Given the description of an element on the screen output the (x, y) to click on. 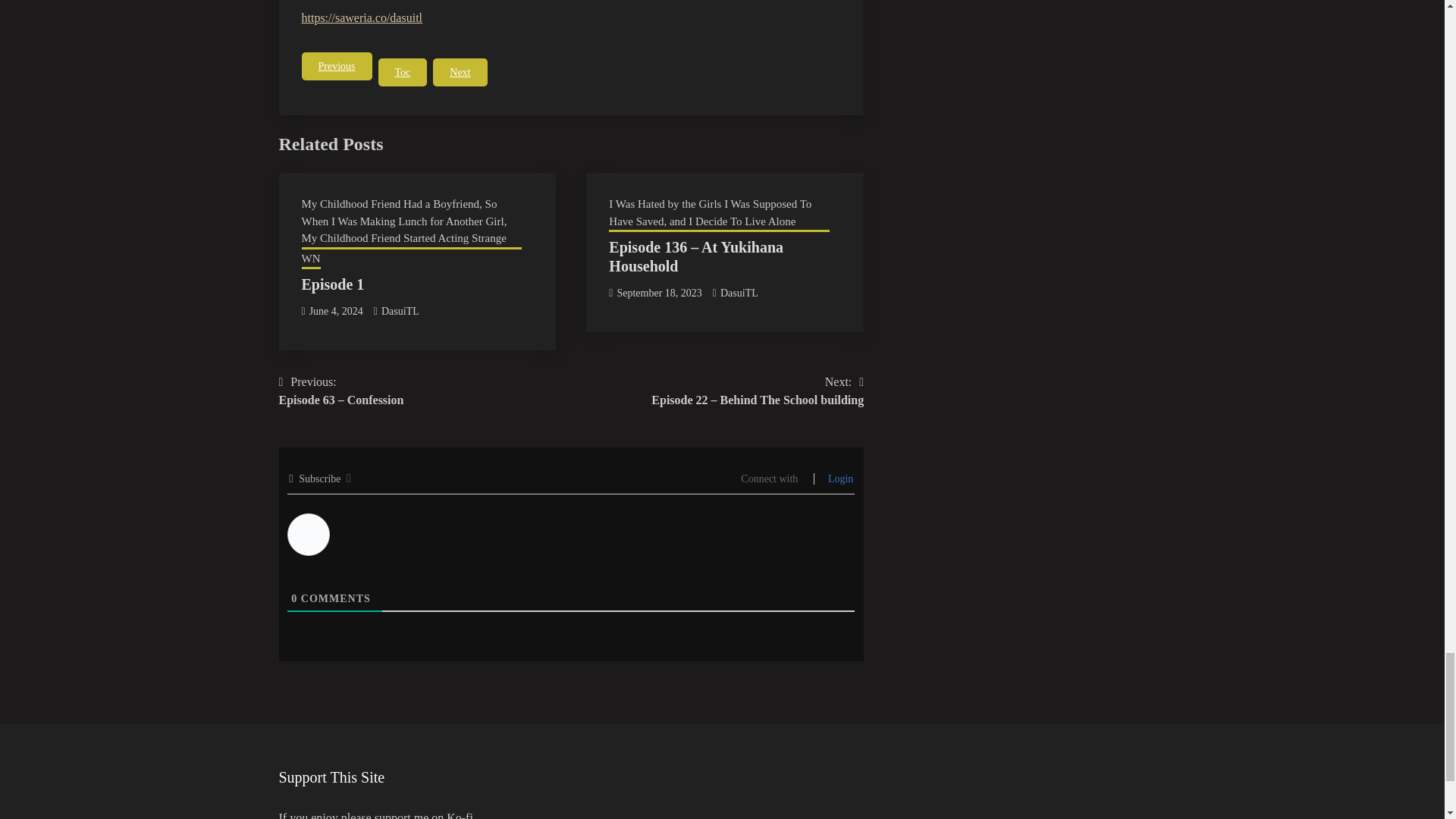
Toc (401, 72)
Next (459, 72)
Previous (336, 66)
